Given the description of an element on the screen output the (x, y) to click on. 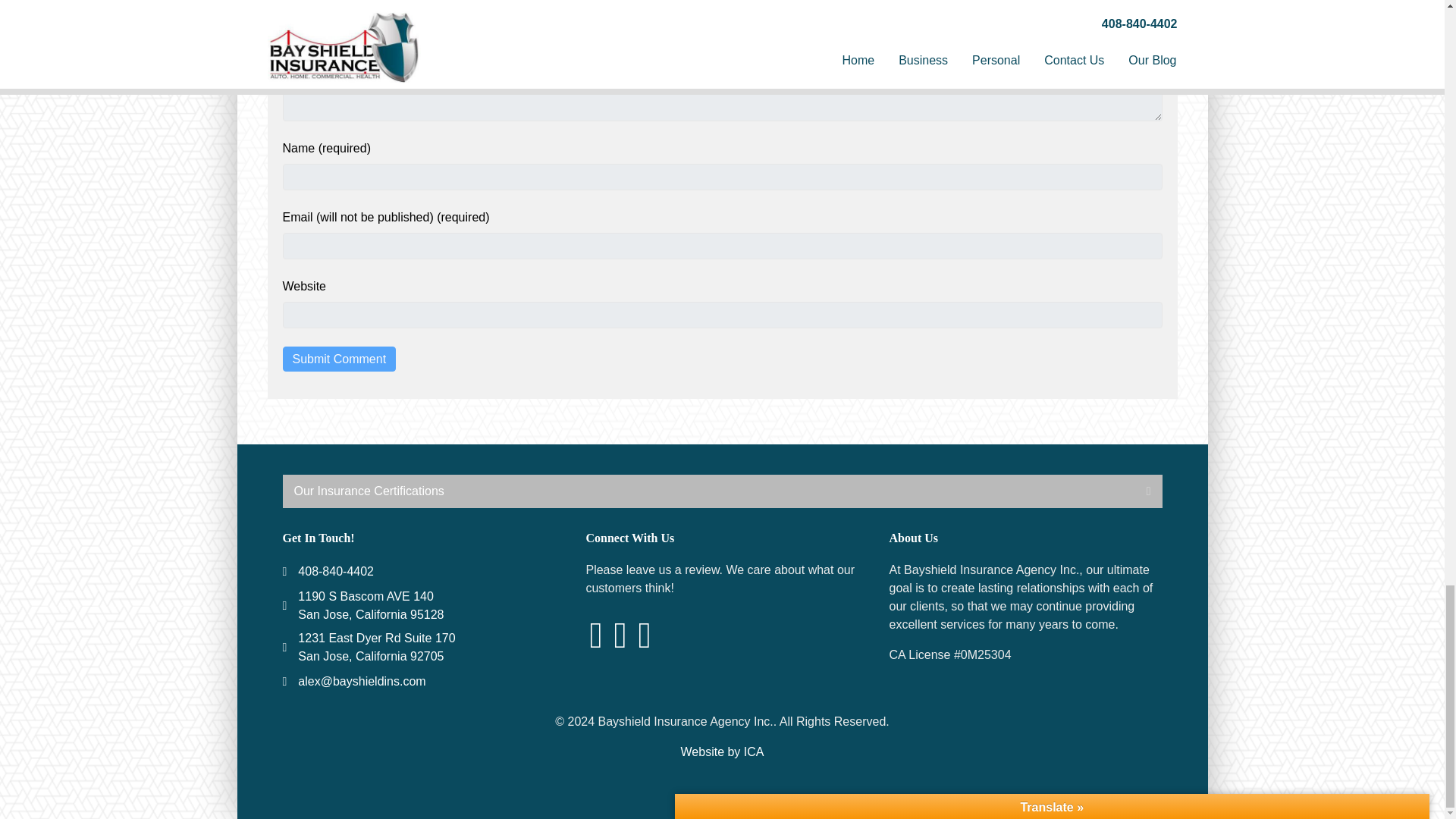
Submit Comment (339, 358)
